Given the description of an element on the screen output the (x, y) to click on. 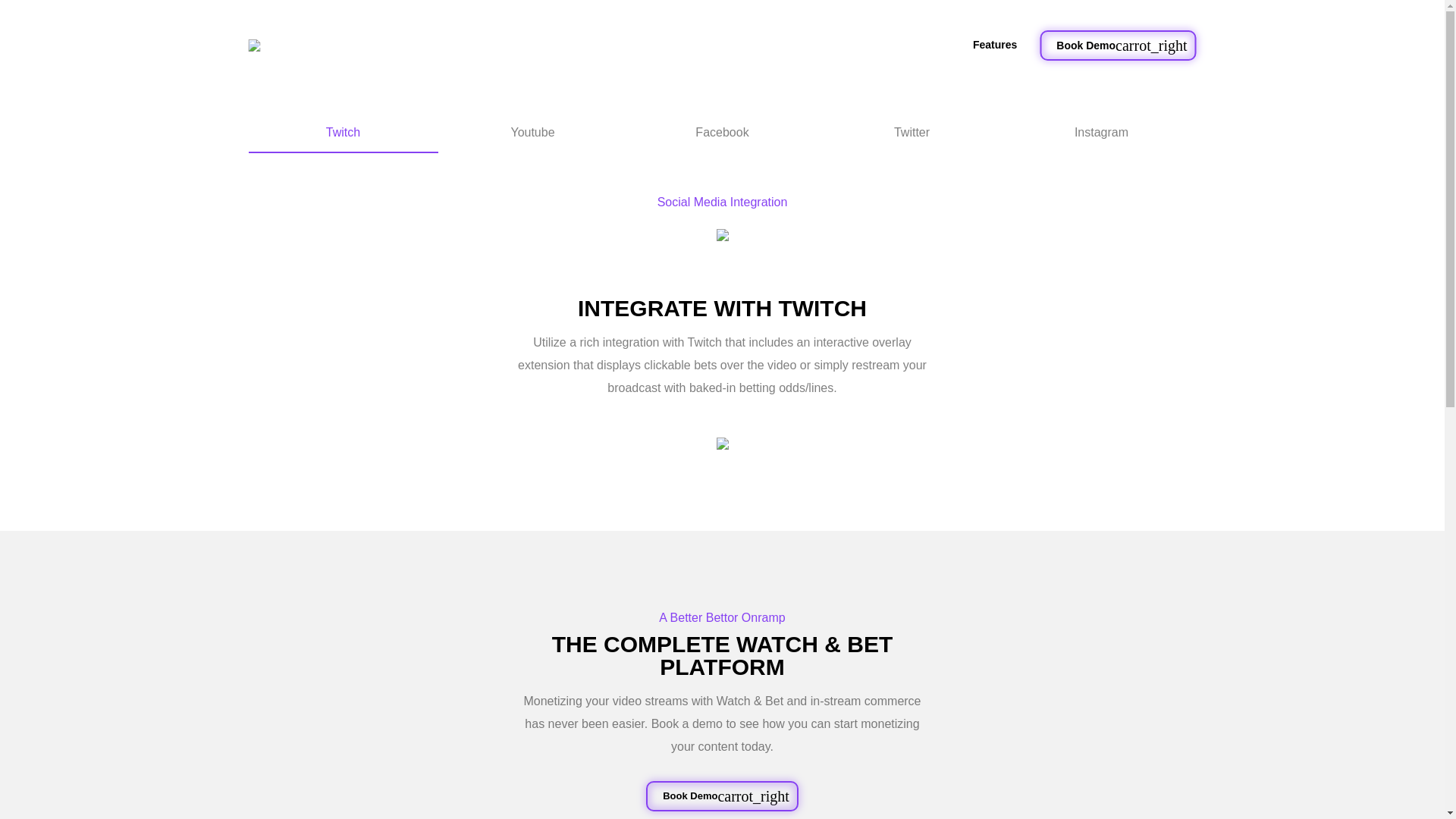
Twitch (343, 133)
Youtube (532, 133)
Facebook (721, 133)
Twitter (911, 133)
Features (995, 45)
Instagram (1101, 133)
